Given the description of an element on the screen output the (x, y) to click on. 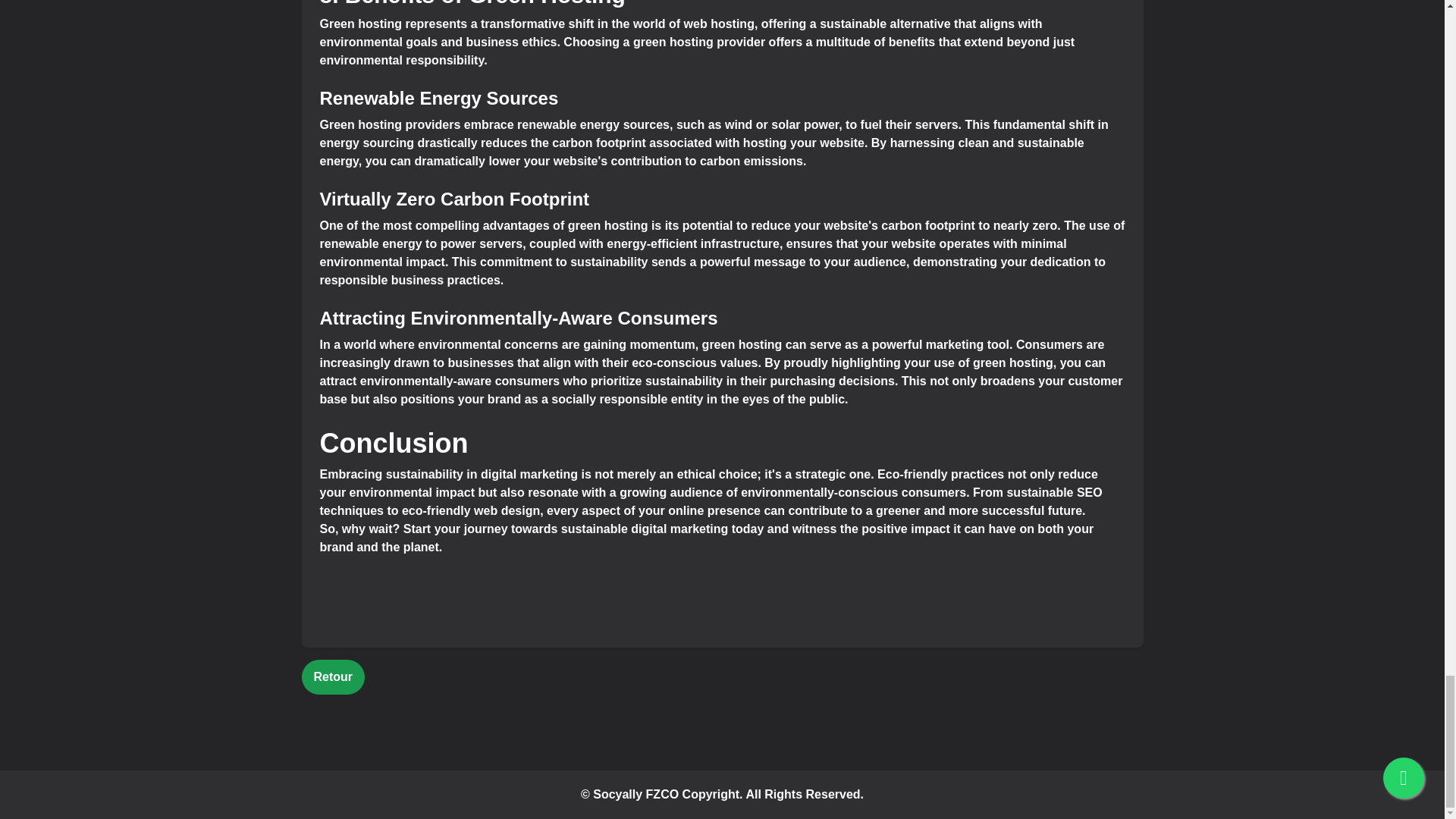
Retour (333, 677)
